Given the description of an element on the screen output the (x, y) to click on. 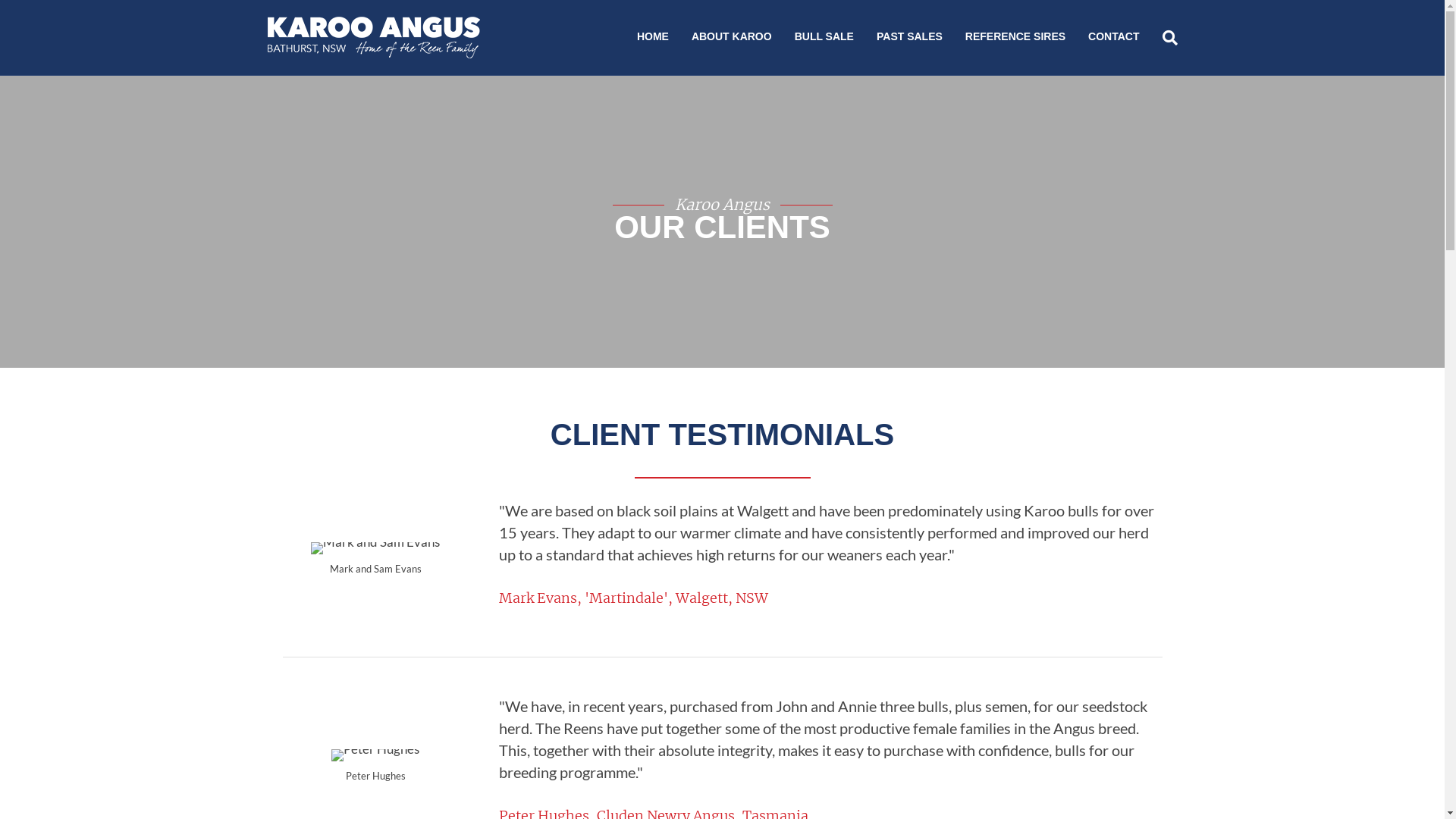
CONTACT Element type: text (1113, 37)
HOME Element type: text (652, 37)
REFERENCE SIRES Element type: text (1014, 37)
ABOUT KAROO Element type: text (731, 37)
BULL SALE Element type: text (824, 37)
PAST SALES Element type: text (909, 37)
Mark and Sam Evans Element type: hover (374, 548)
Peter Hughes Element type: hover (375, 755)
